Given the description of an element on the screen output the (x, y) to click on. 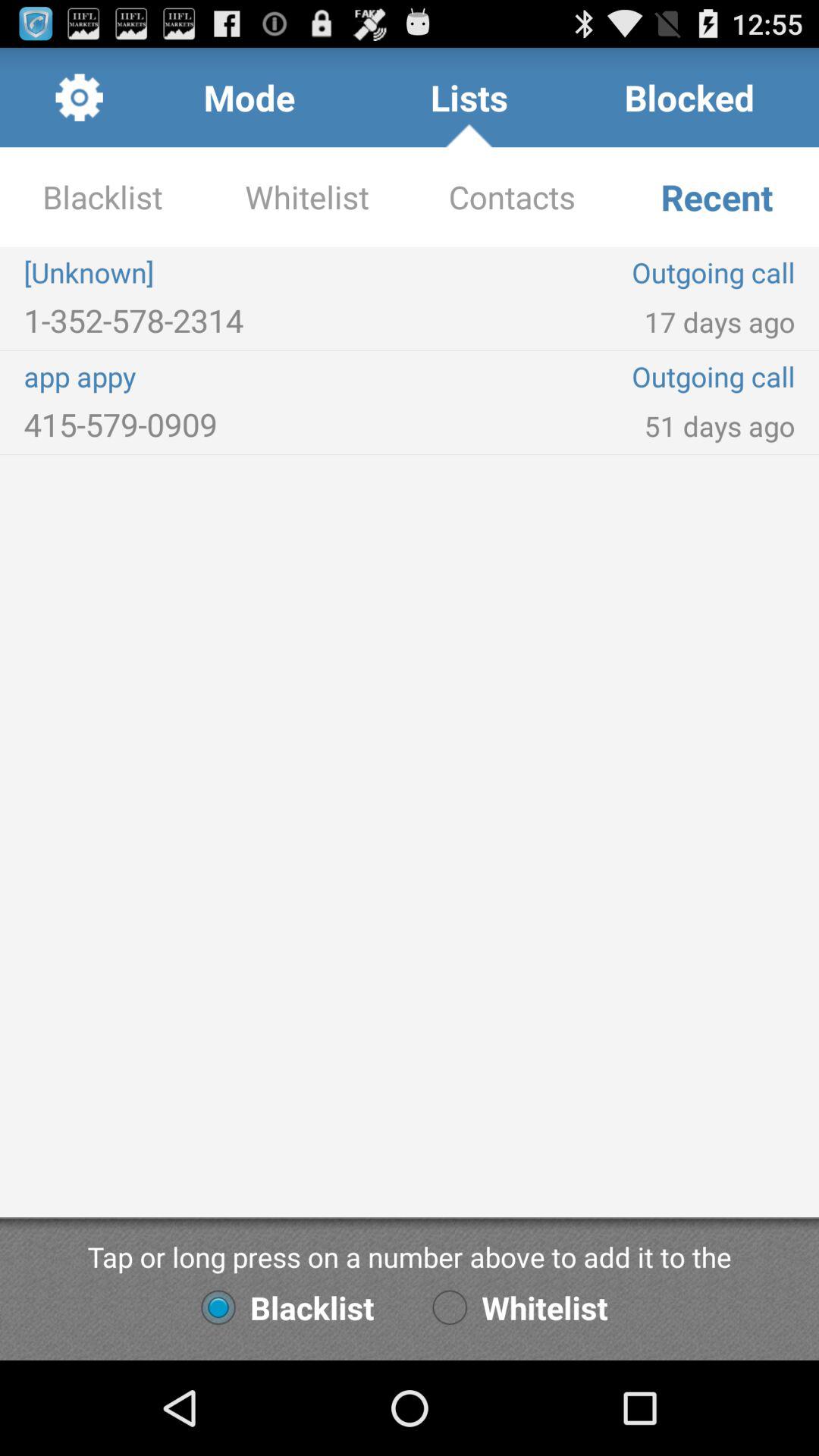
swipe to the 1 352 578 item (216, 319)
